Given the description of an element on the screen output the (x, y) to click on. 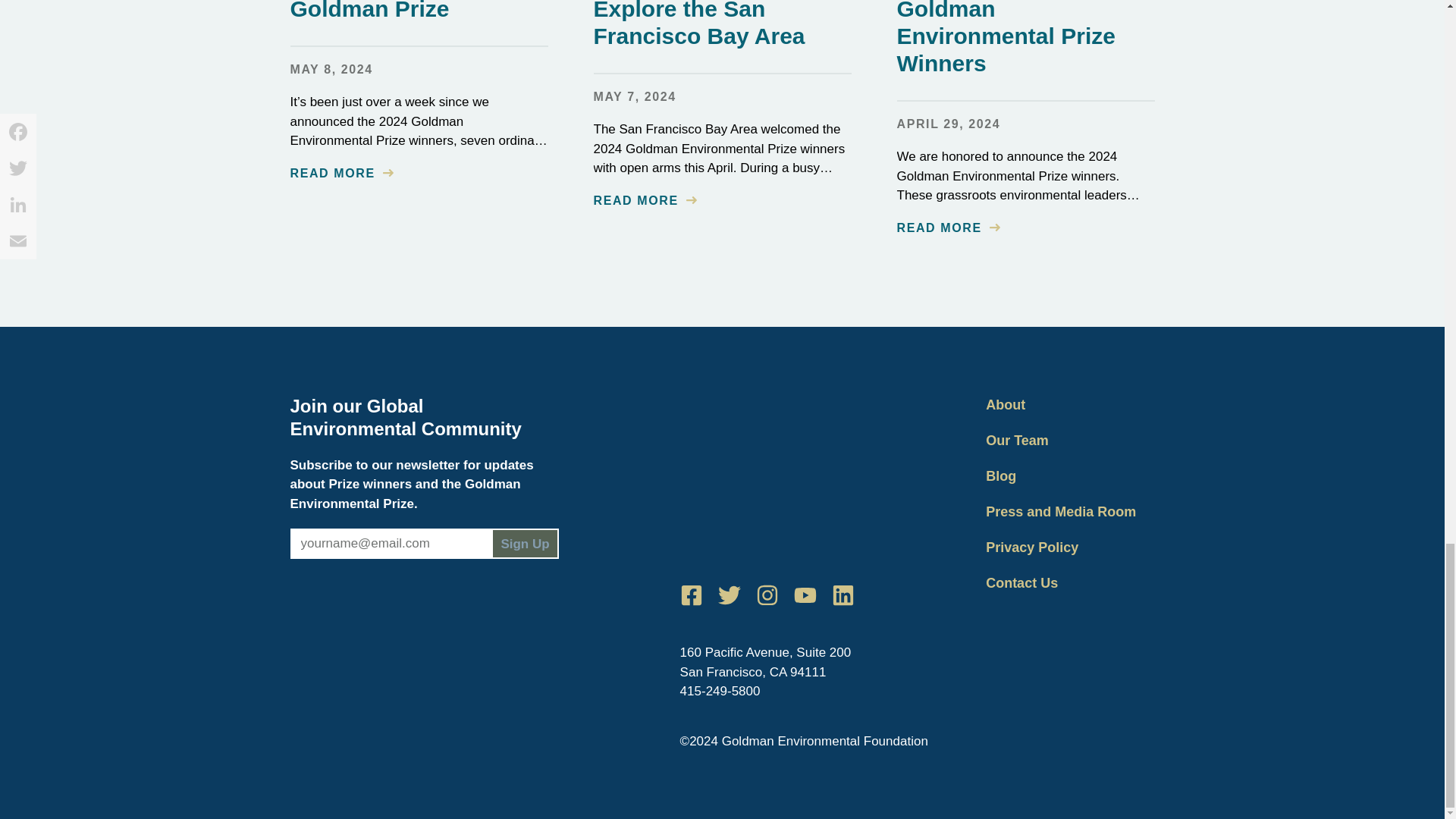
READ MORE (947, 227)
Introducing the 2024 Goldman Environmental Prize Winners (1007, 38)
READ MORE (643, 200)
Sign Up (524, 543)
Goldman Prize Winners Explore the San Francisco Bay Area (719, 24)
READ MORE (341, 173)
Reflecting on the 2024 Goldman Prize (410, 10)
Sign Up (524, 543)
